Given the description of an element on the screen output the (x, y) to click on. 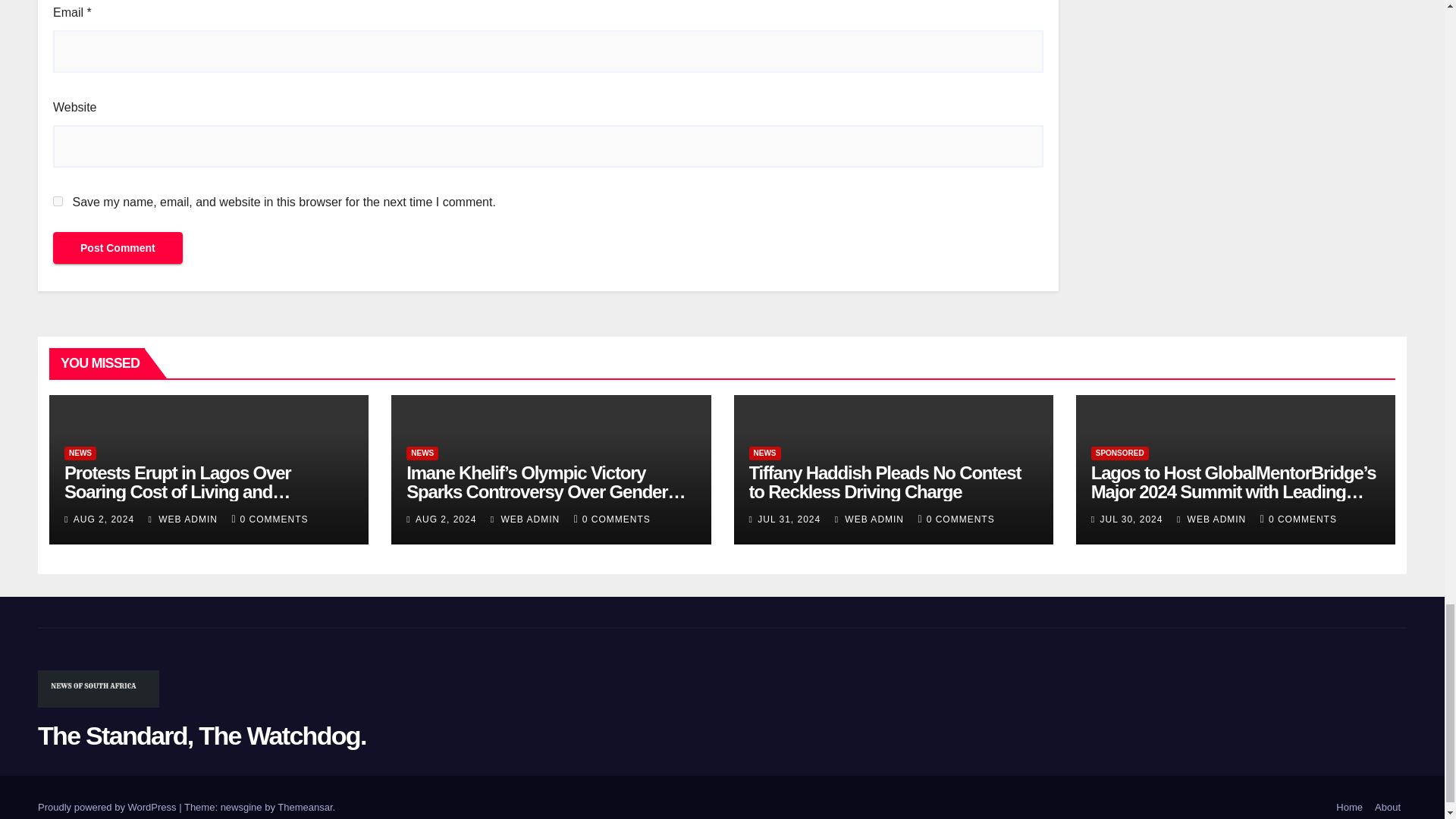
Post Comment (117, 247)
yes (57, 201)
Post Comment (117, 247)
Home (1349, 806)
